Given the description of an element on the screen output the (x, y) to click on. 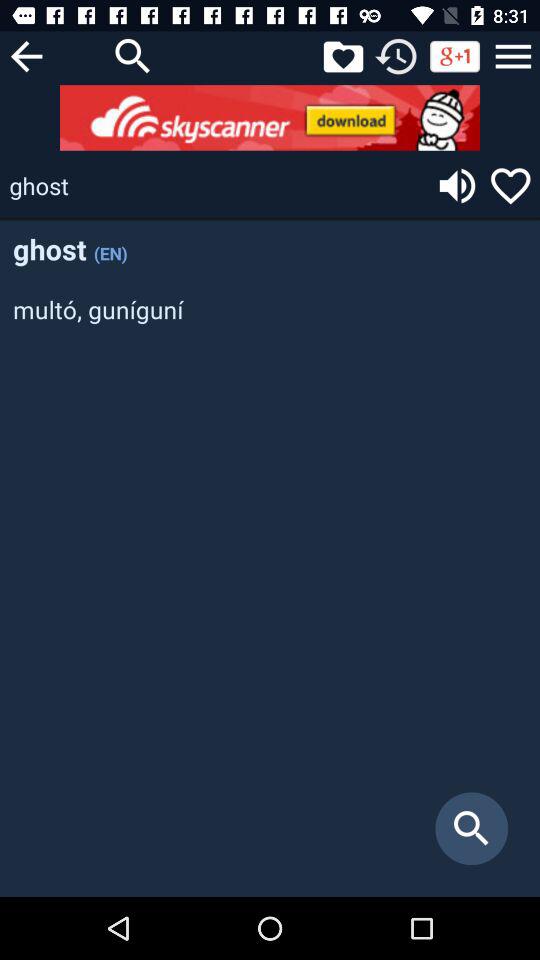
toggle volume (457, 185)
